Given the description of an element on the screen output the (x, y) to click on. 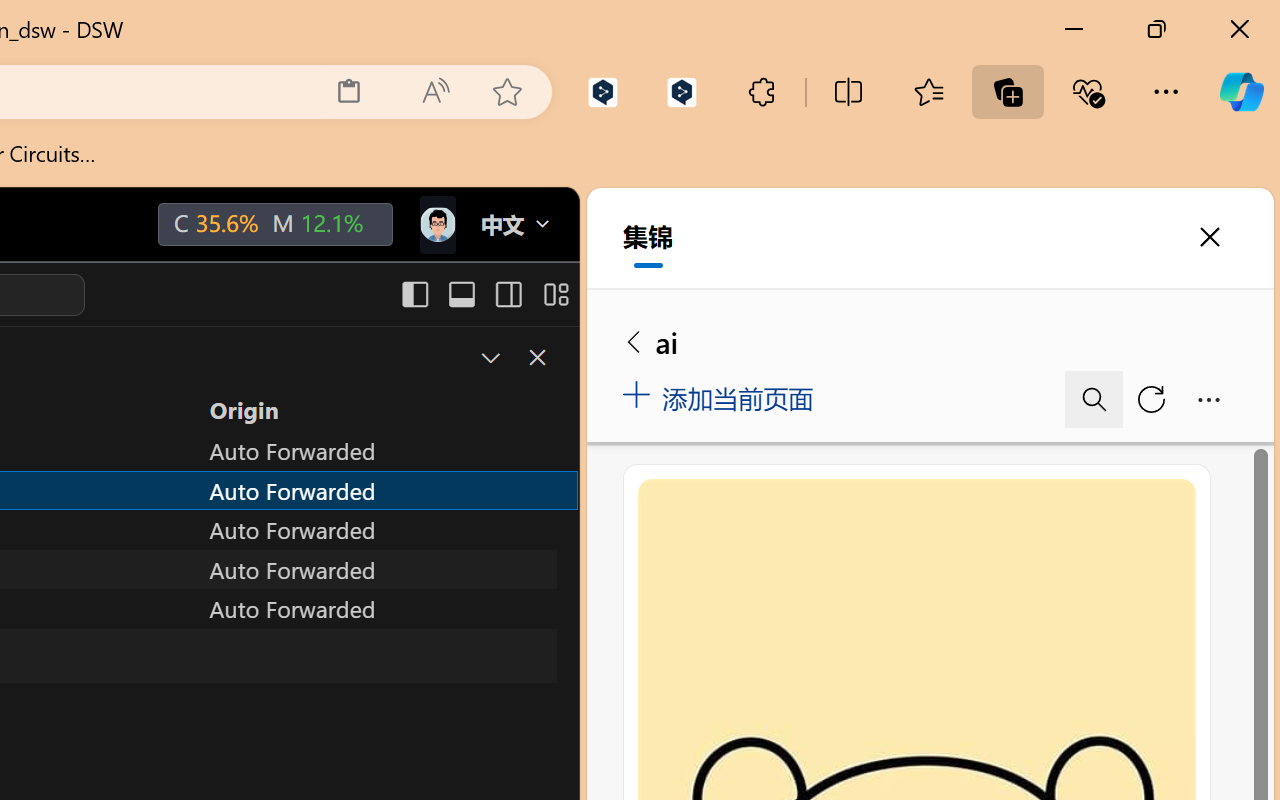
Class: actions-container (516, 358)
Close Panel (535, 357)
Title actions (484, 294)
icon (436, 224)
Copilot (Ctrl+Shift+.) (1241, 91)
icon (436, 220)
